Given the description of an element on the screen output the (x, y) to click on. 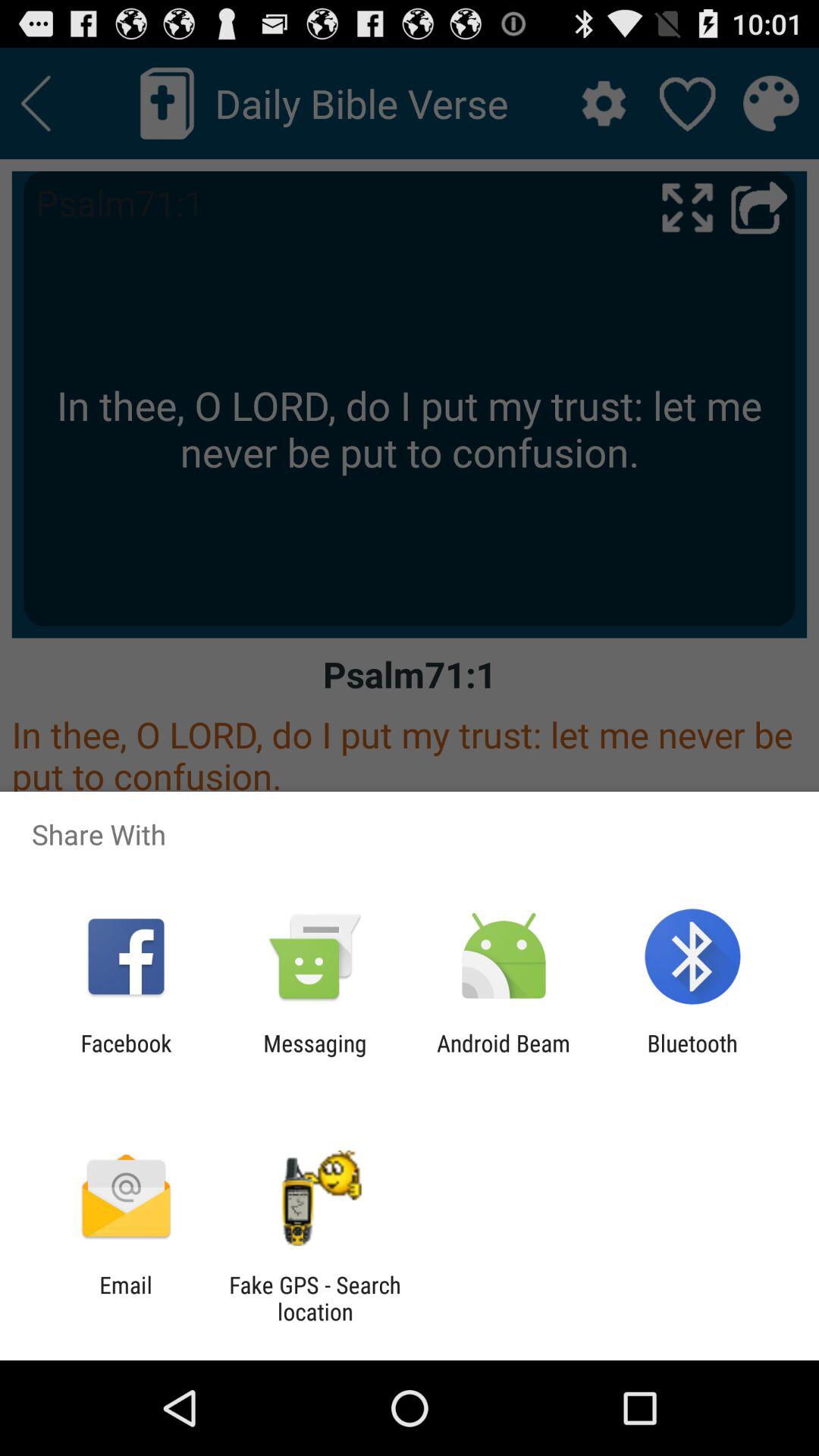
select app next to the android beam (314, 1056)
